Given the description of an element on the screen output the (x, y) to click on. 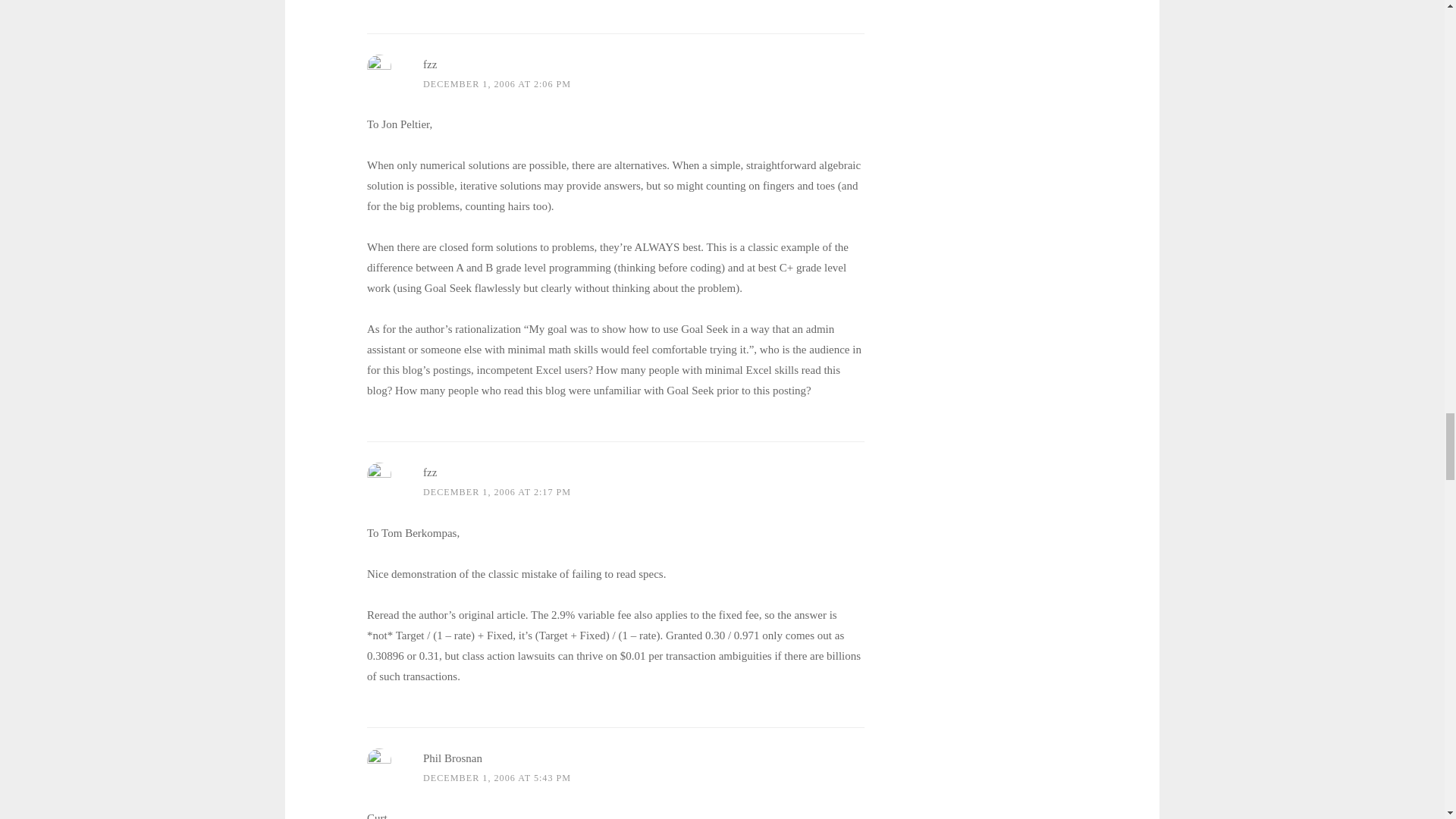
DECEMBER 1, 2006 AT 2:06 PM (496, 83)
DECEMBER 1, 2006 AT 5:43 PM (496, 777)
DECEMBER 1, 2006 AT 2:17 PM (496, 491)
